Given the description of an element on the screen output the (x, y) to click on. 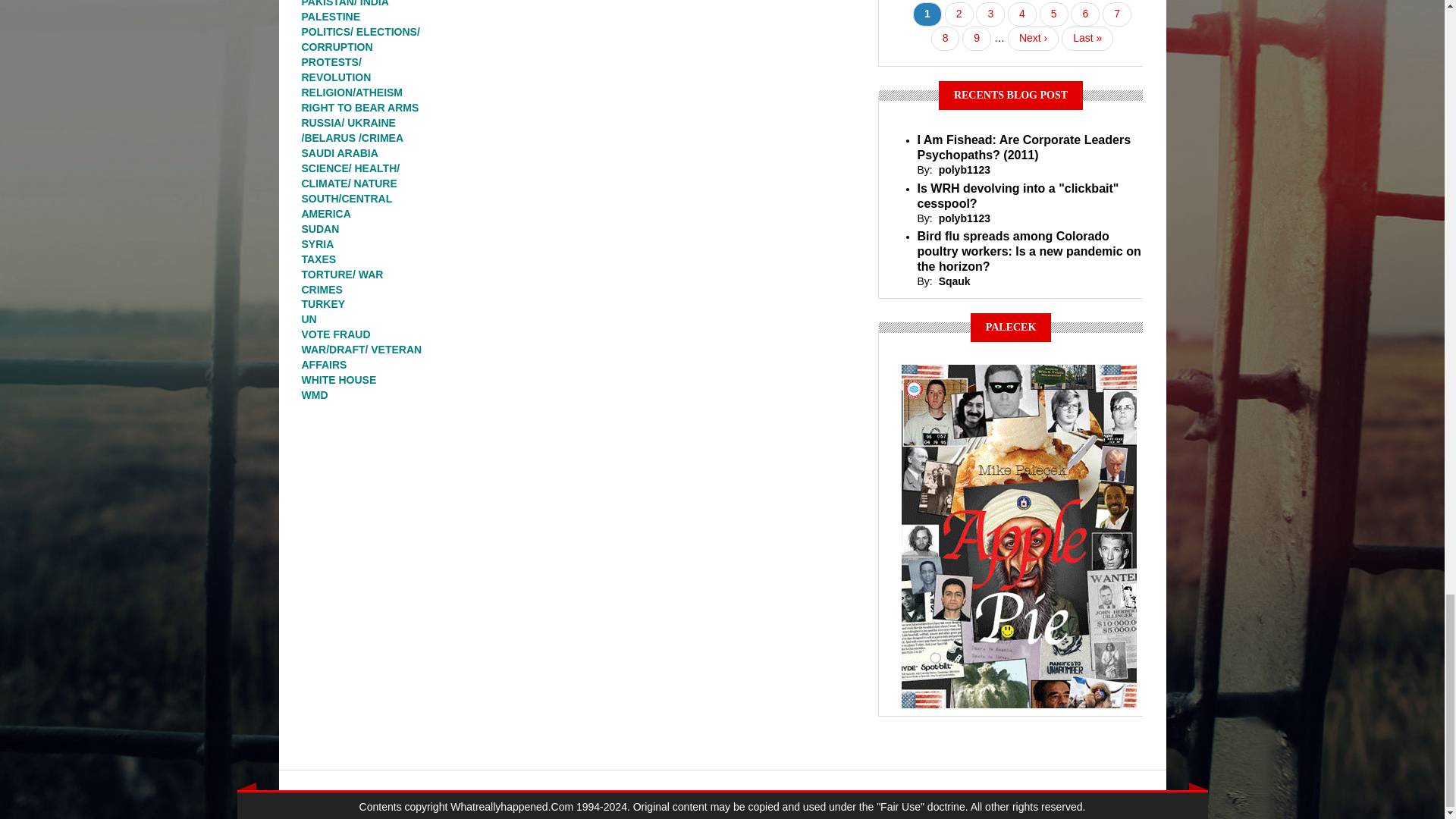
Go to page 5 (1053, 14)
Go to last page (1087, 38)
Go to page 6 (1084, 14)
Go to page 7 (1116, 14)
Current page (927, 14)
Go to page 4 (1021, 14)
Go to next page (1032, 38)
Go to page 9 (976, 38)
Go to page 2 (959, 14)
Go to page 8 (945, 38)
